Given the description of an element on the screen output the (x, y) to click on. 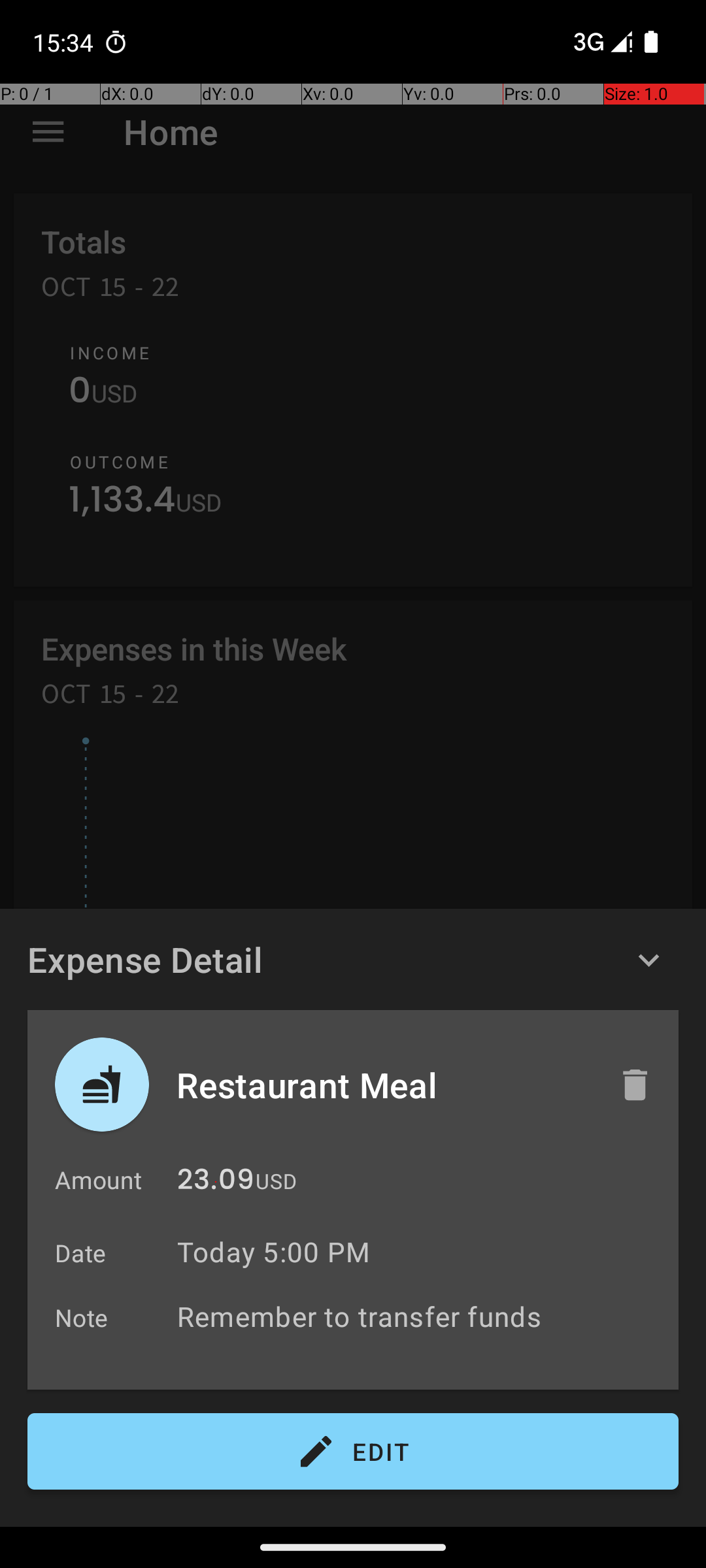
Restaurant Meal Element type: android.widget.TextView (383, 1084)
23.09 Element type: android.widget.TextView (215, 1182)
